Given the description of an element on the screen output the (x, y) to click on. 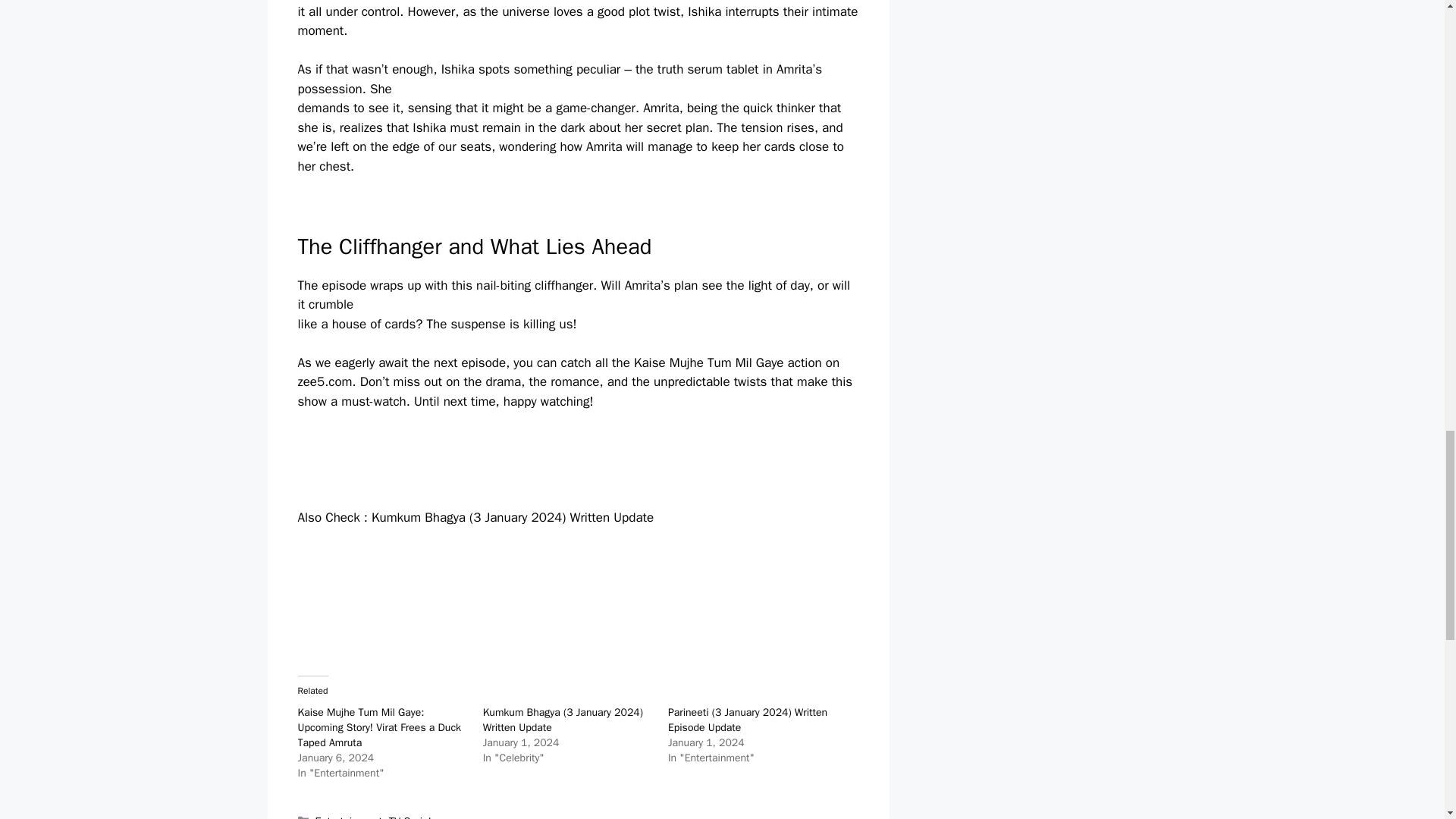
TV Serials (412, 816)
Entertainment (348, 816)
